Given the description of an element on the screen output the (x, y) to click on. 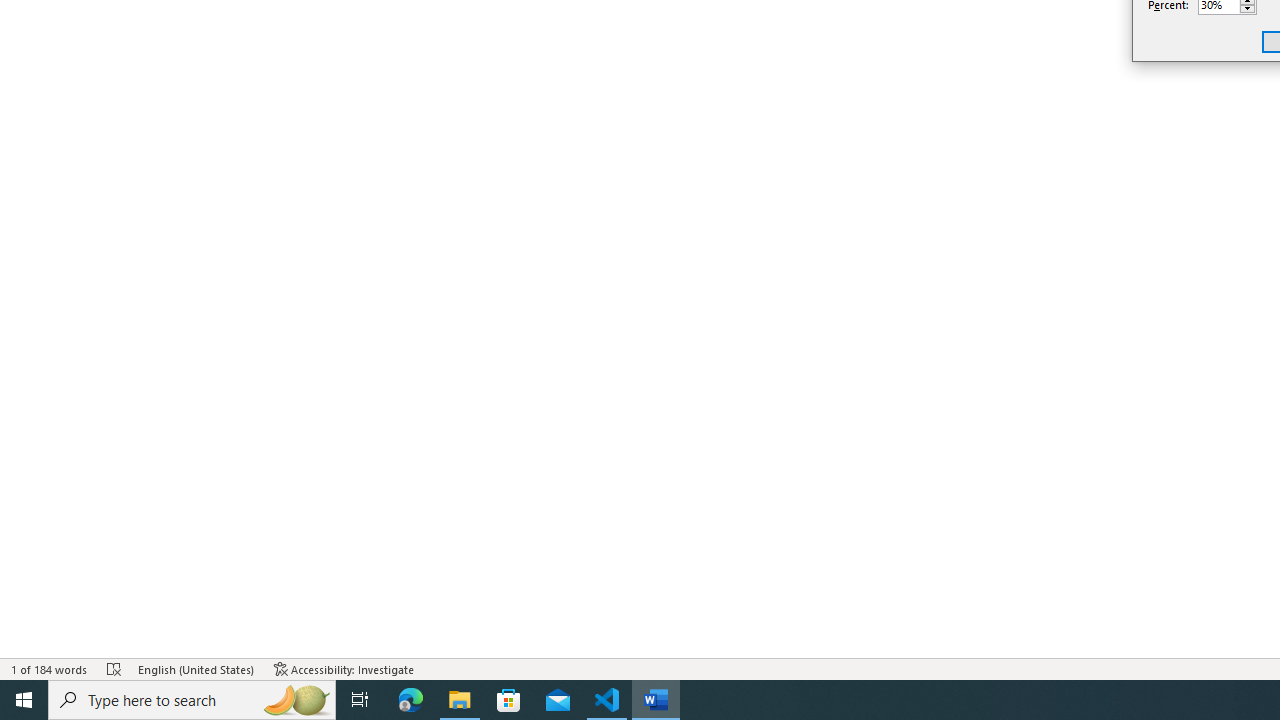
Microsoft Edge (411, 699)
Word Count 1 of 184 words (49, 668)
Word - 1 running window (656, 699)
